Given the description of an element on the screen output the (x, y) to click on. 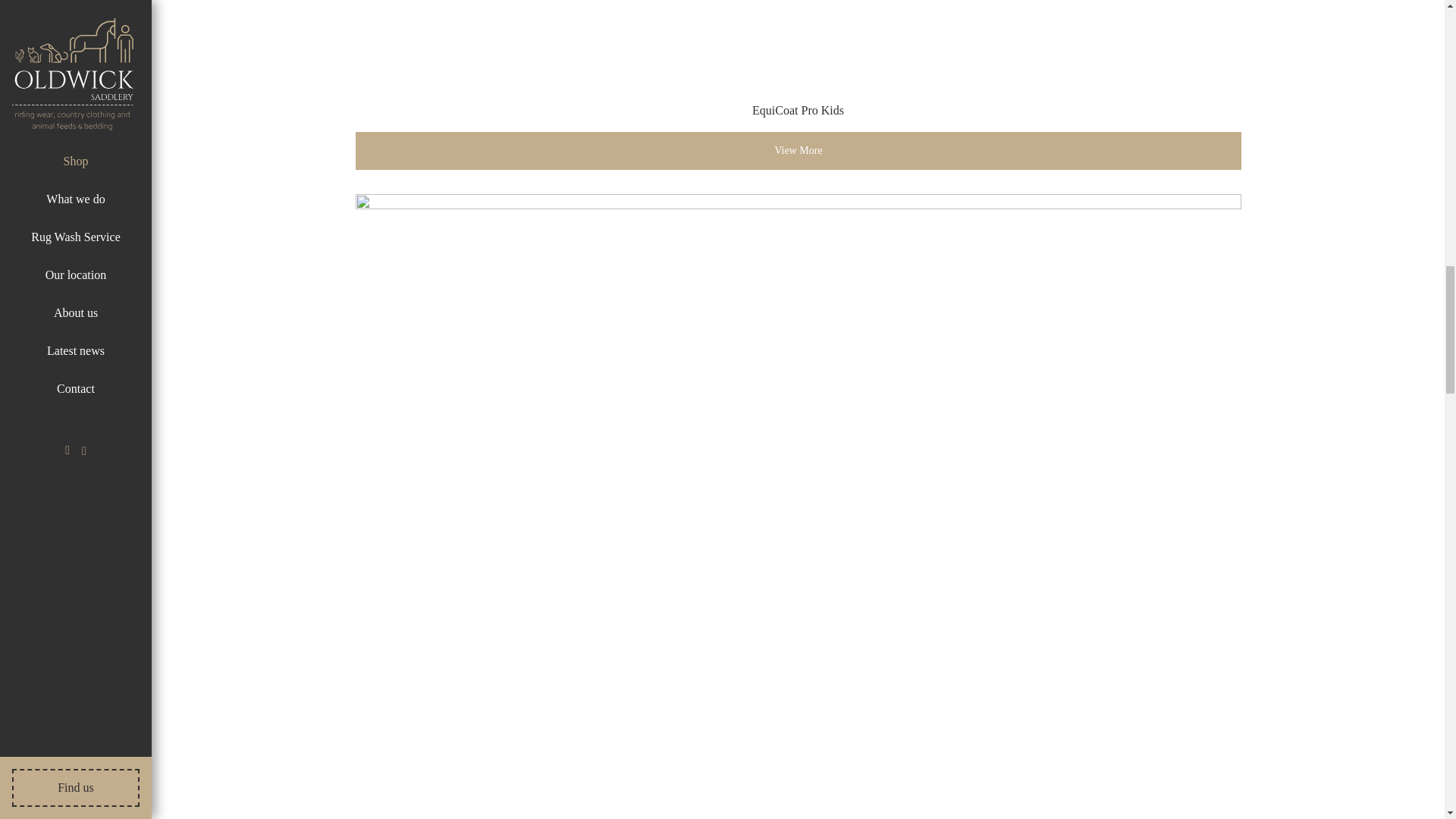
View More (797, 150)
EquiCoat Pro Kids (797, 65)
